Given the description of an element on the screen output the (x, y) to click on. 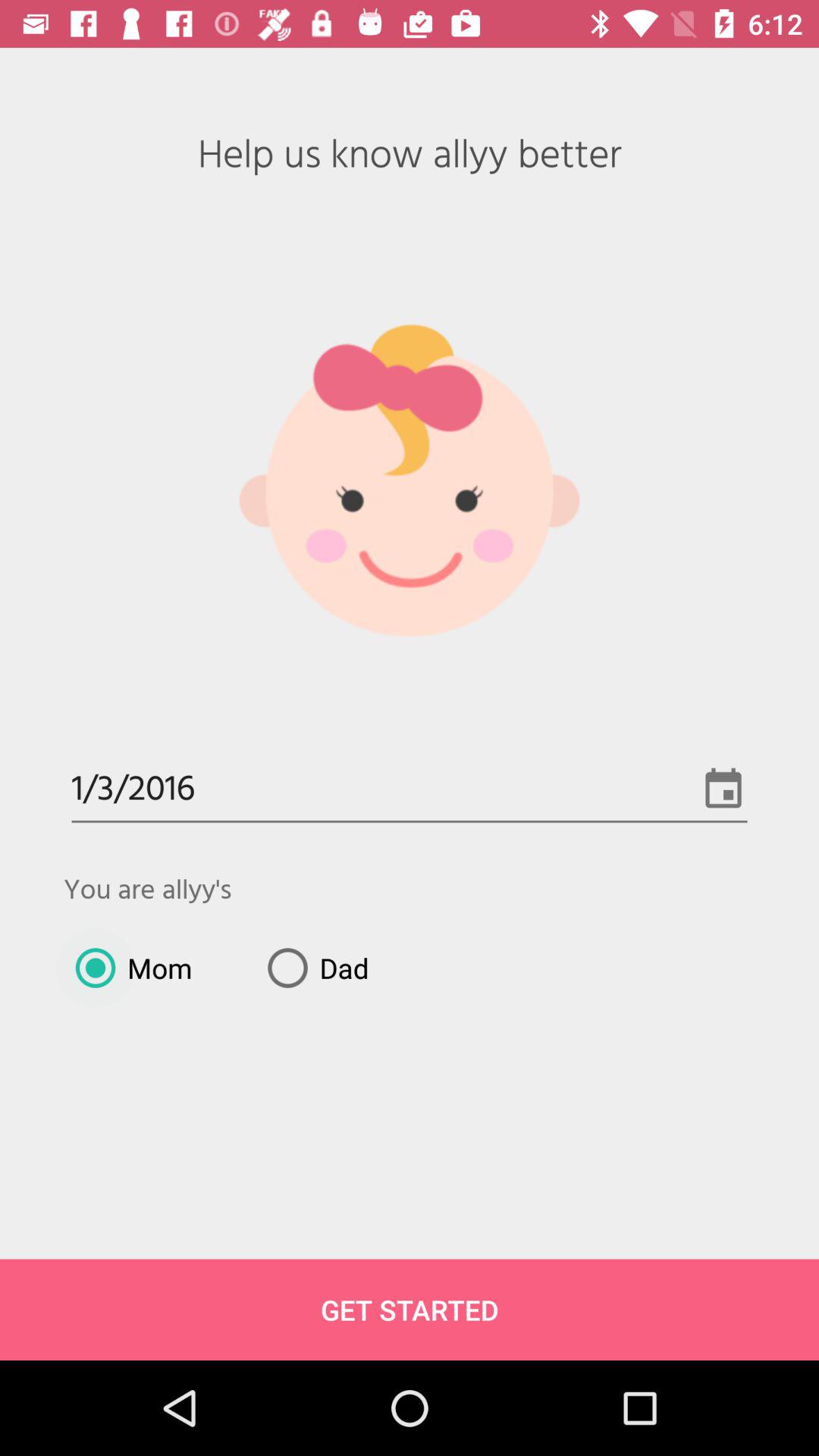
turn off item above get started item (312, 967)
